Given the description of an element on the screen output the (x, y) to click on. 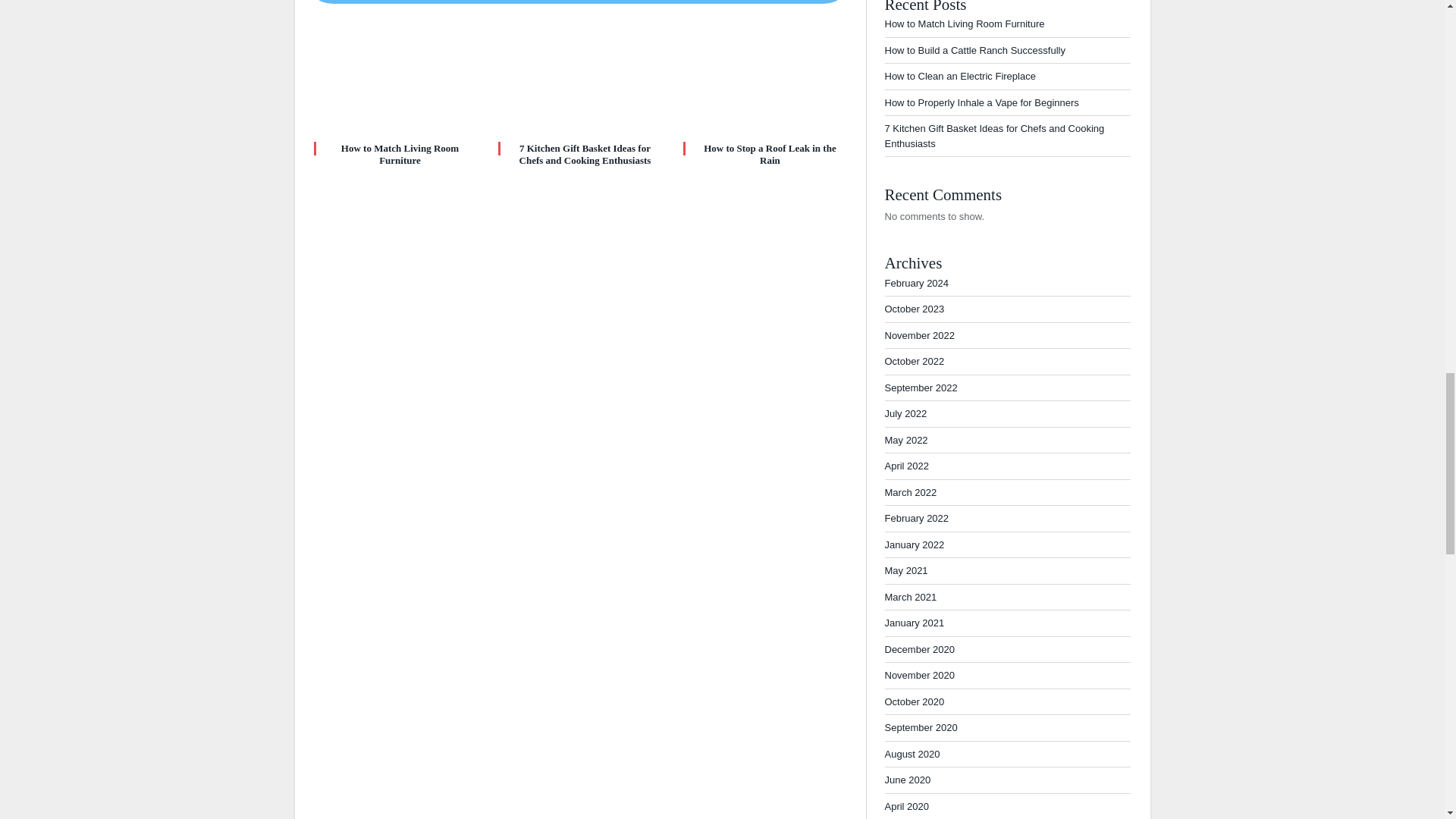
How to Match Living Room Furniture (399, 154)
How to Match Living Room Furniture (399, 154)
How to Match Living Room Furniture (395, 79)
